Given the description of an element on the screen output the (x, y) to click on. 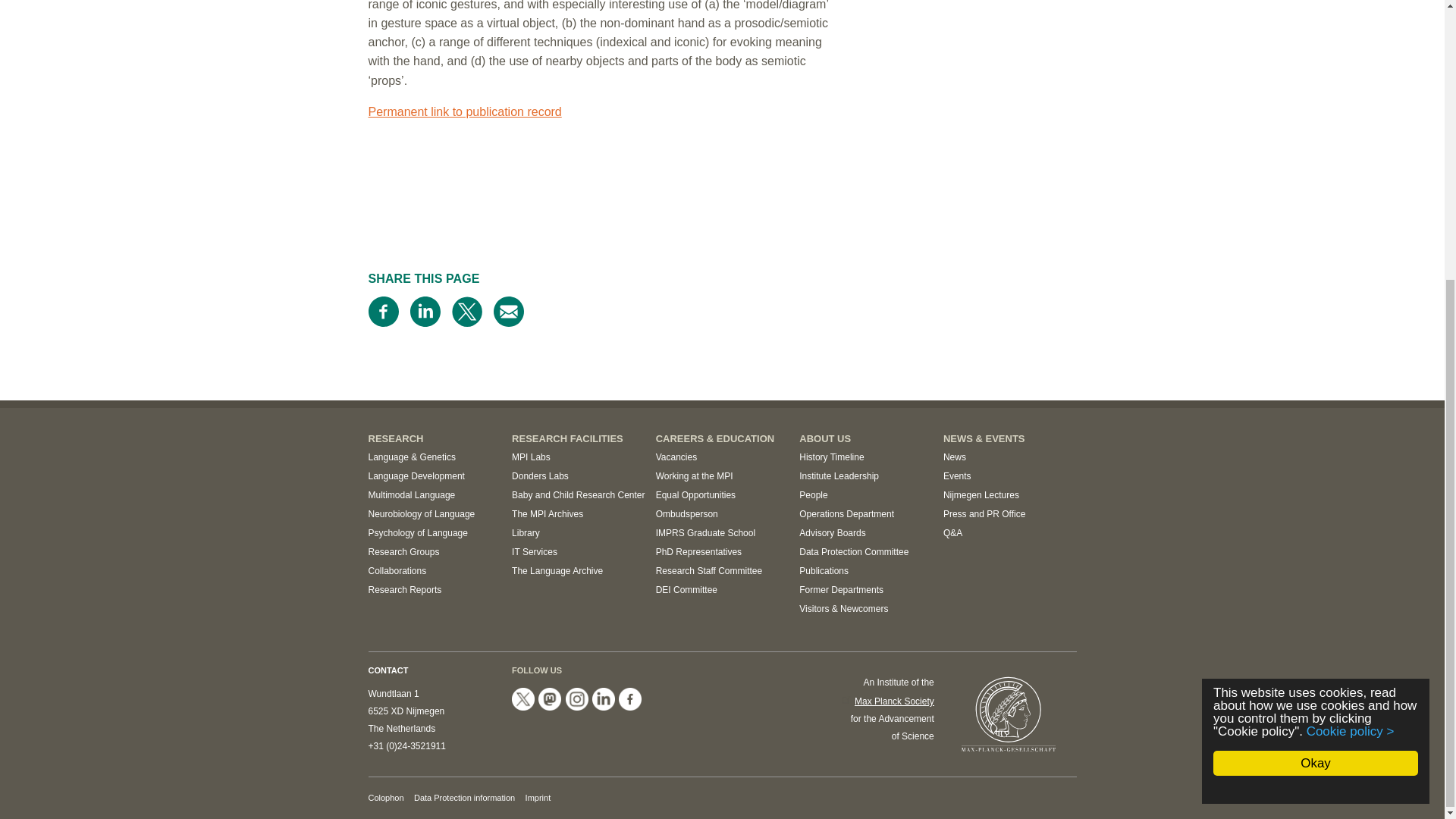
RESEARCH (395, 438)
Psychology of Language (417, 532)
Language Development (416, 475)
Research Reports (405, 589)
Research Groups (403, 552)
Linkedin (424, 311)
Twitter (466, 311)
Instagram (577, 698)
Permanent link to publication record (465, 111)
X (523, 698)
Facebook (383, 311)
Okay (1315, 345)
Email (507, 311)
Jobs listing (676, 457)
LinkedIN (603, 698)
